Given the description of an element on the screen output the (x, y) to click on. 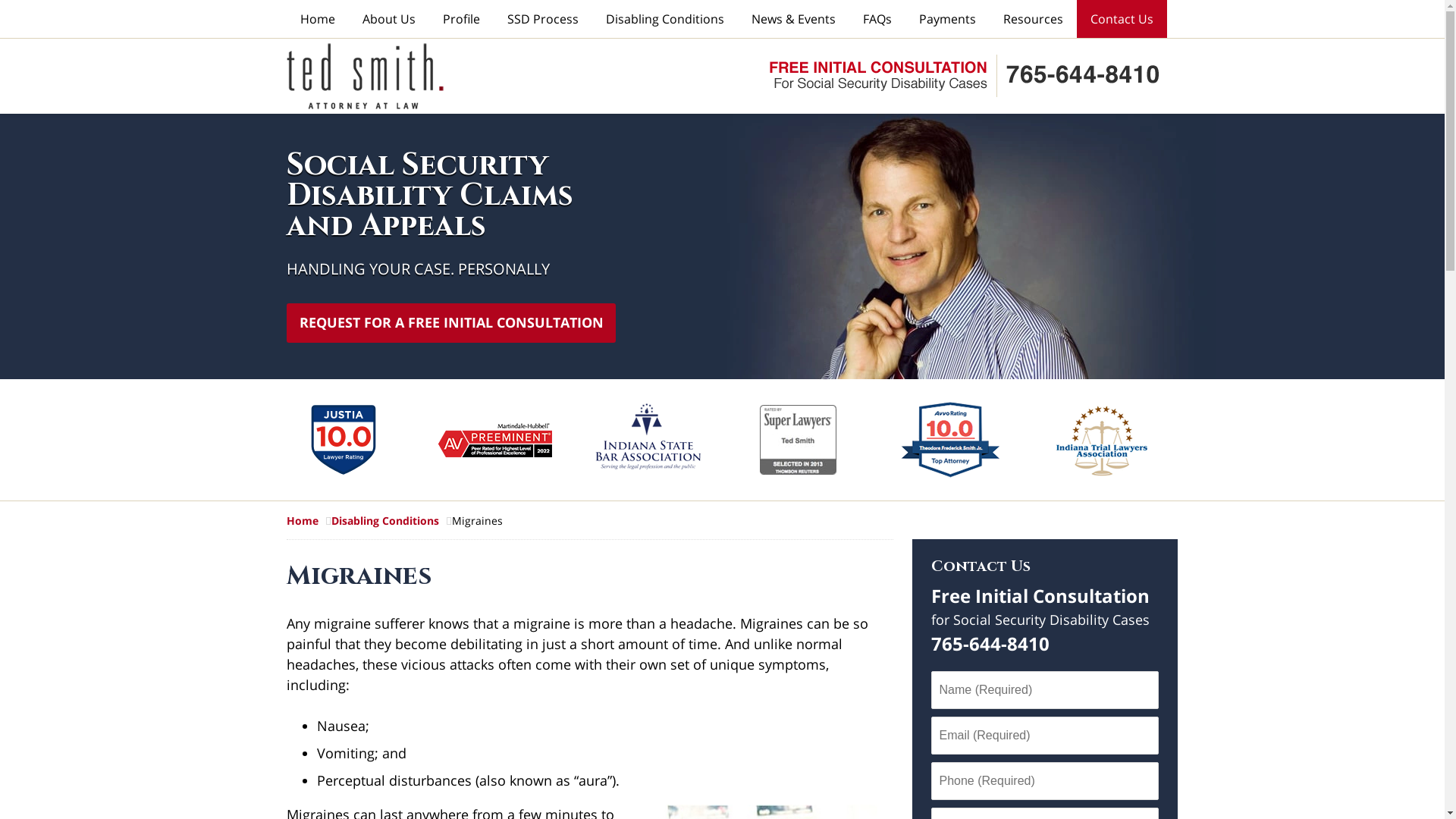
Disabling Conditions Element type: text (664, 18)
News & Events Element type: text (792, 18)
Contact Us Element type: text (980, 565)
About Us Element type: text (388, 18)
FAQs Element type: text (877, 18)
Profile Element type: text (461, 18)
Disabling Conditions Element type: text (390, 520)
SSD Process Element type: text (541, 18)
Home Element type: text (317, 18)
Resources Element type: text (1032, 18)
REQUEST FOR A FREE INITIAL CONSULTATION Element type: text (450, 322)
Home Element type: text (308, 520)
Contact Anderson, Indiana Disability Claim Lawyer Ted Smith Element type: text (962, 75)
Contact Us Element type: text (1121, 18)
Payments Element type: text (947, 18)
